Given the description of an element on the screen output the (x, y) to click on. 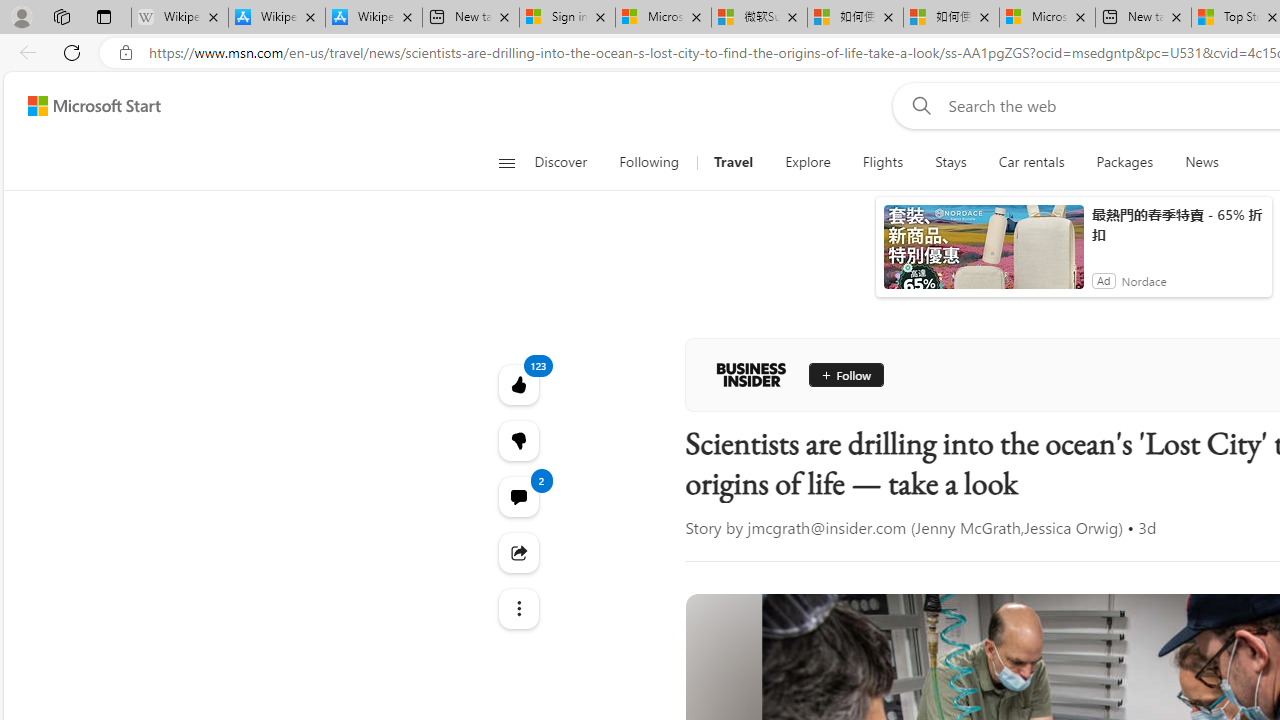
Business Insider (751, 374)
anim-content (983, 255)
Share this story (517, 552)
Stays (951, 162)
123 Like (517, 384)
